Given the description of an element on the screen output the (x, y) to click on. 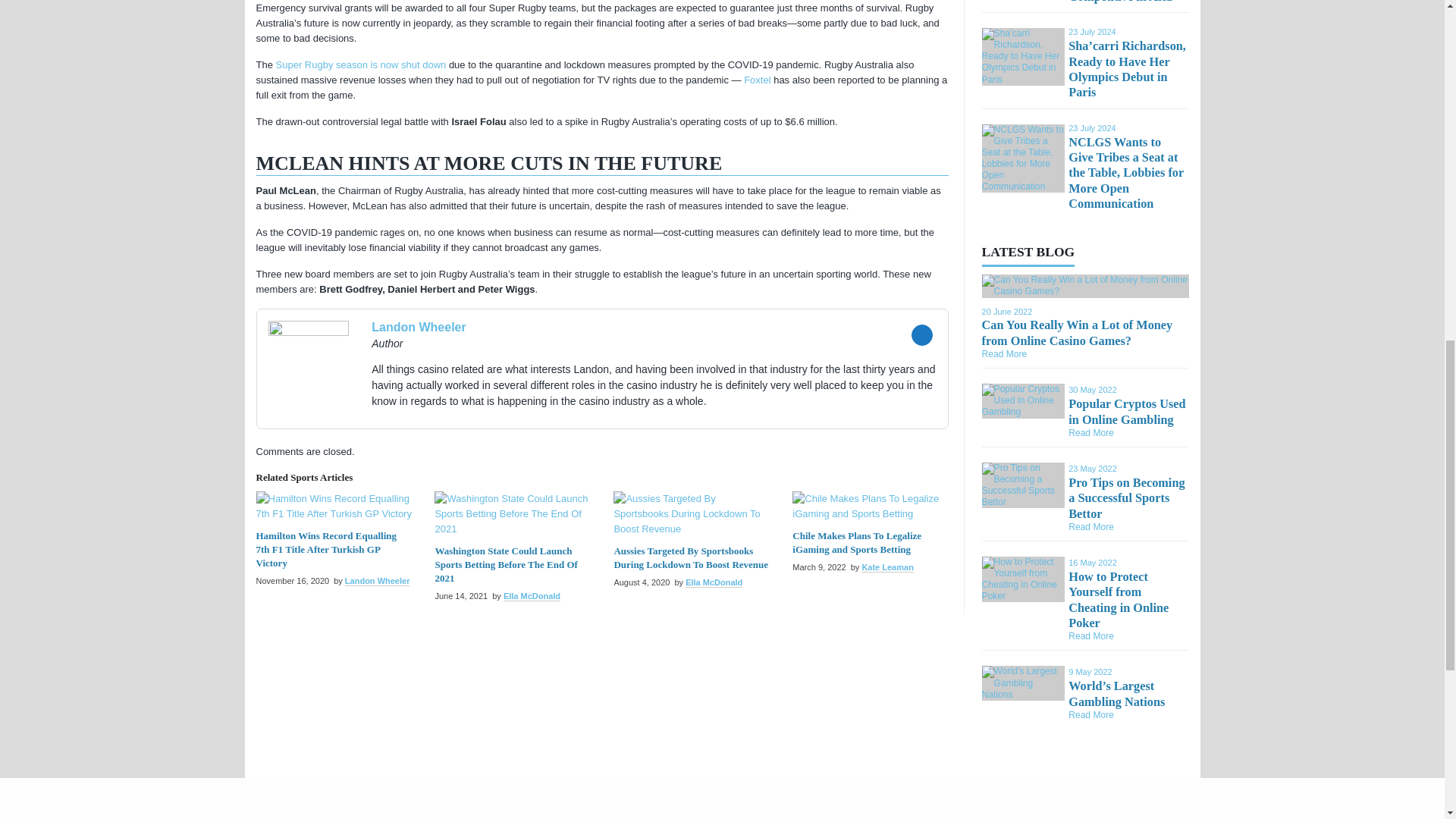
Super Rugby season is now shut down (361, 64)
Foxtel (757, 79)
